Given the description of an element on the screen output the (x, y) to click on. 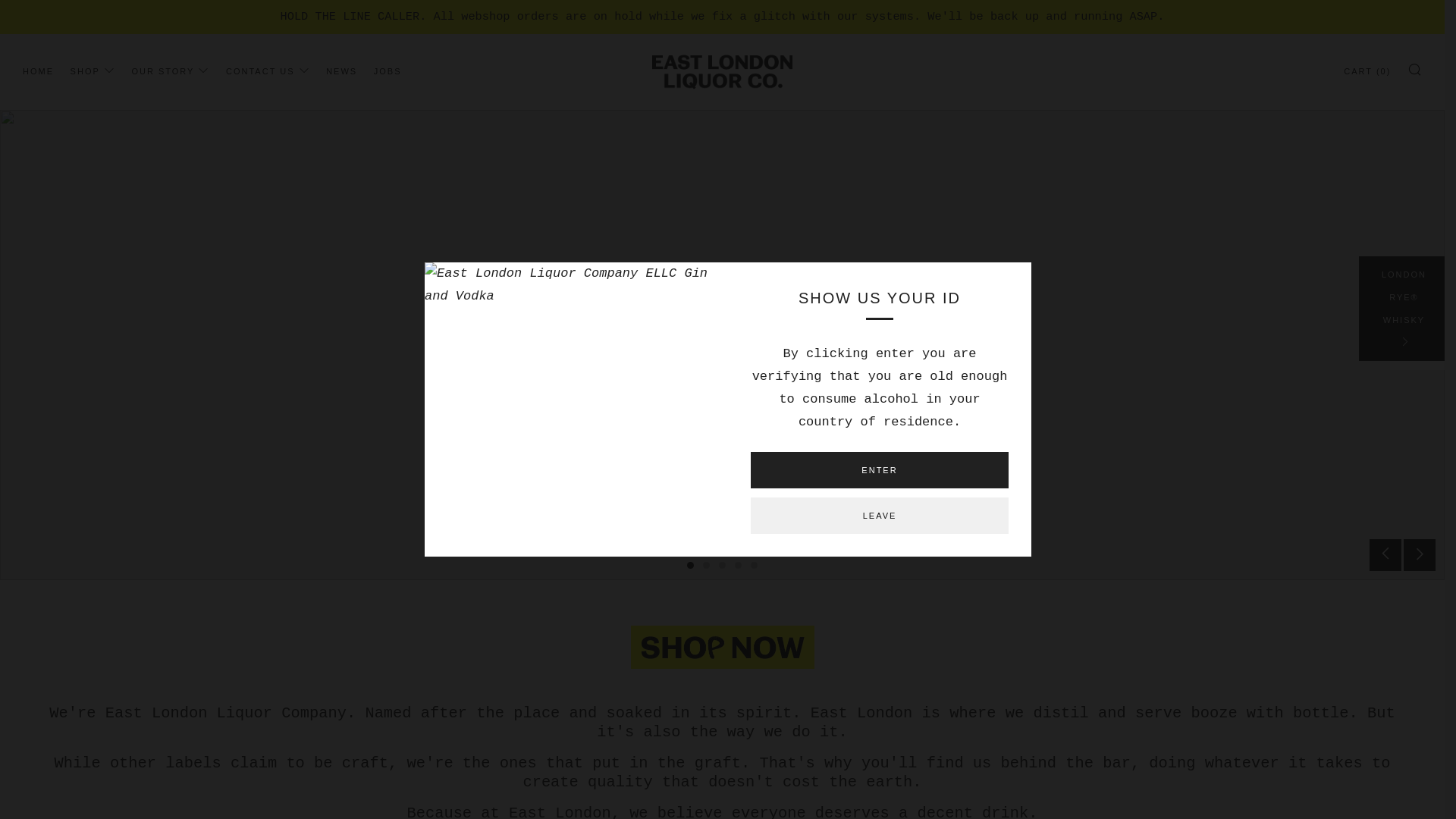
HOME (38, 70)
ENTER (880, 470)
SHOP (92, 70)
OUR STORY (170, 70)
LEAVE (880, 515)
